Given the description of an element on the screen output the (x, y) to click on. 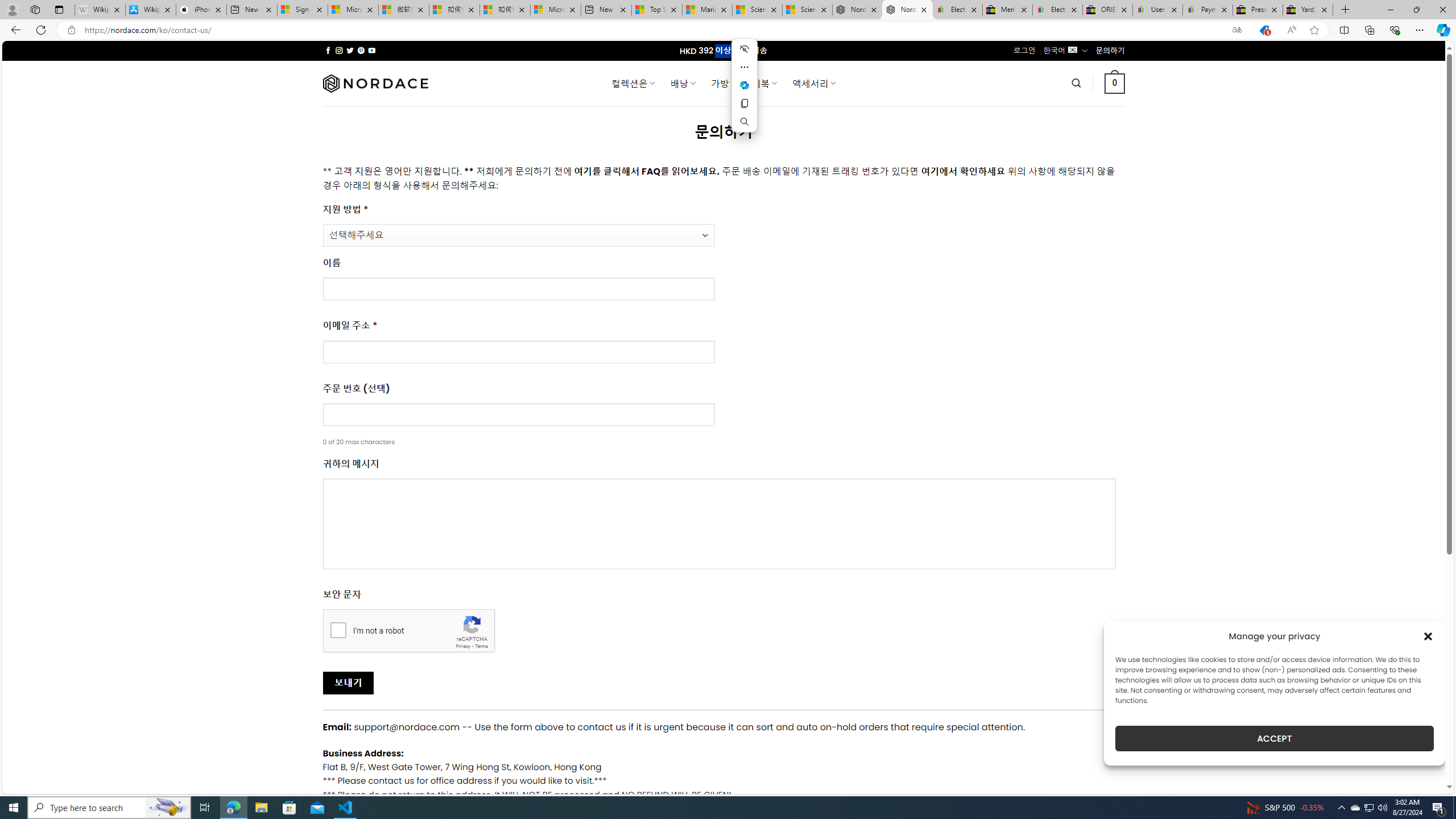
Minimize (1390, 9)
Search (744, 122)
Terms (481, 646)
Sign in to your Microsoft account (302, 9)
User Privacy Notice | eBay (1158, 9)
View site information (70, 29)
Microsoft account | Account Checkup (555, 9)
Collections (1369, 29)
